Given the description of an element on the screen output the (x, y) to click on. 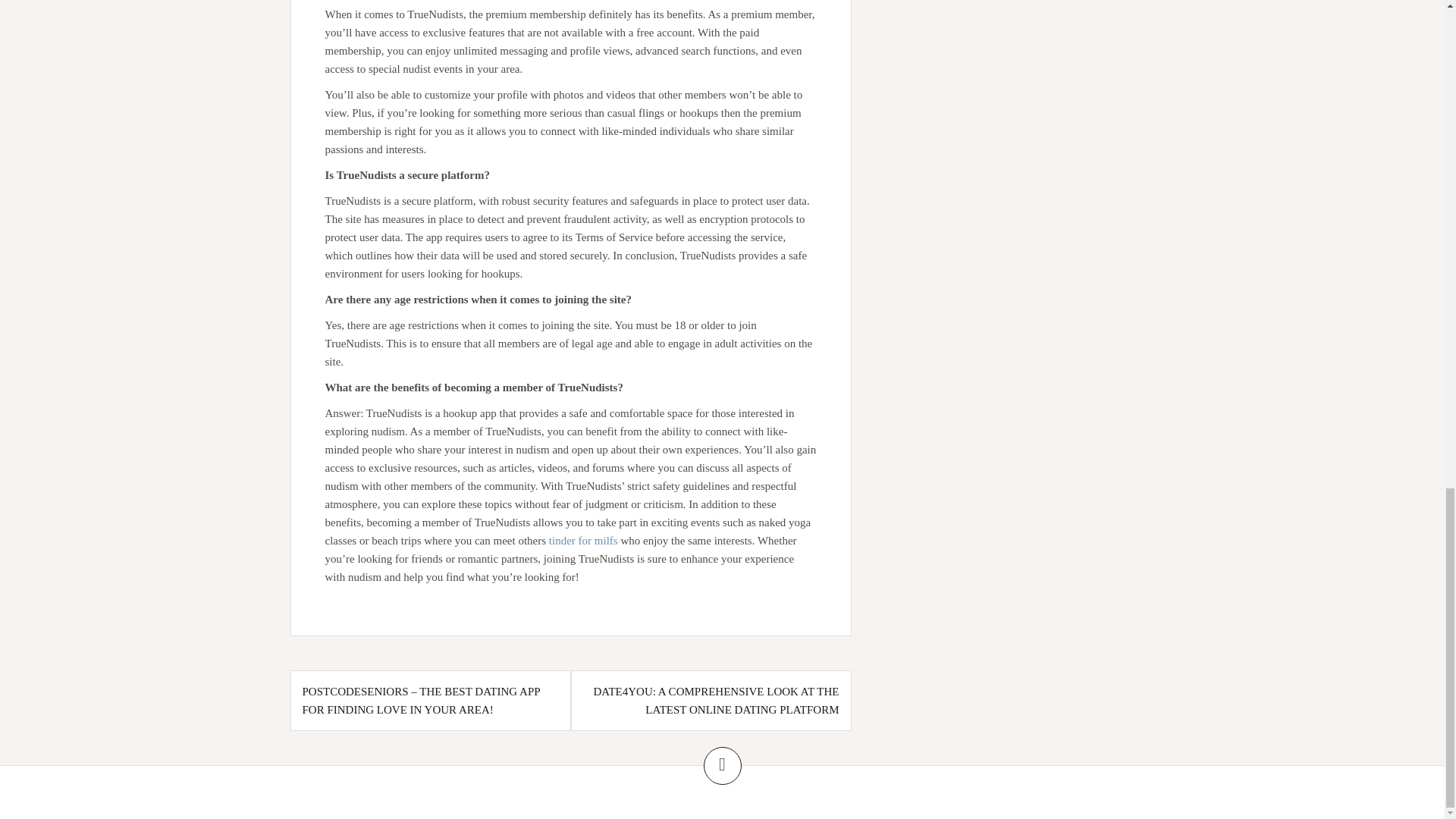
tinder for milfs (582, 540)
